Given the description of an element on the screen output the (x, y) to click on. 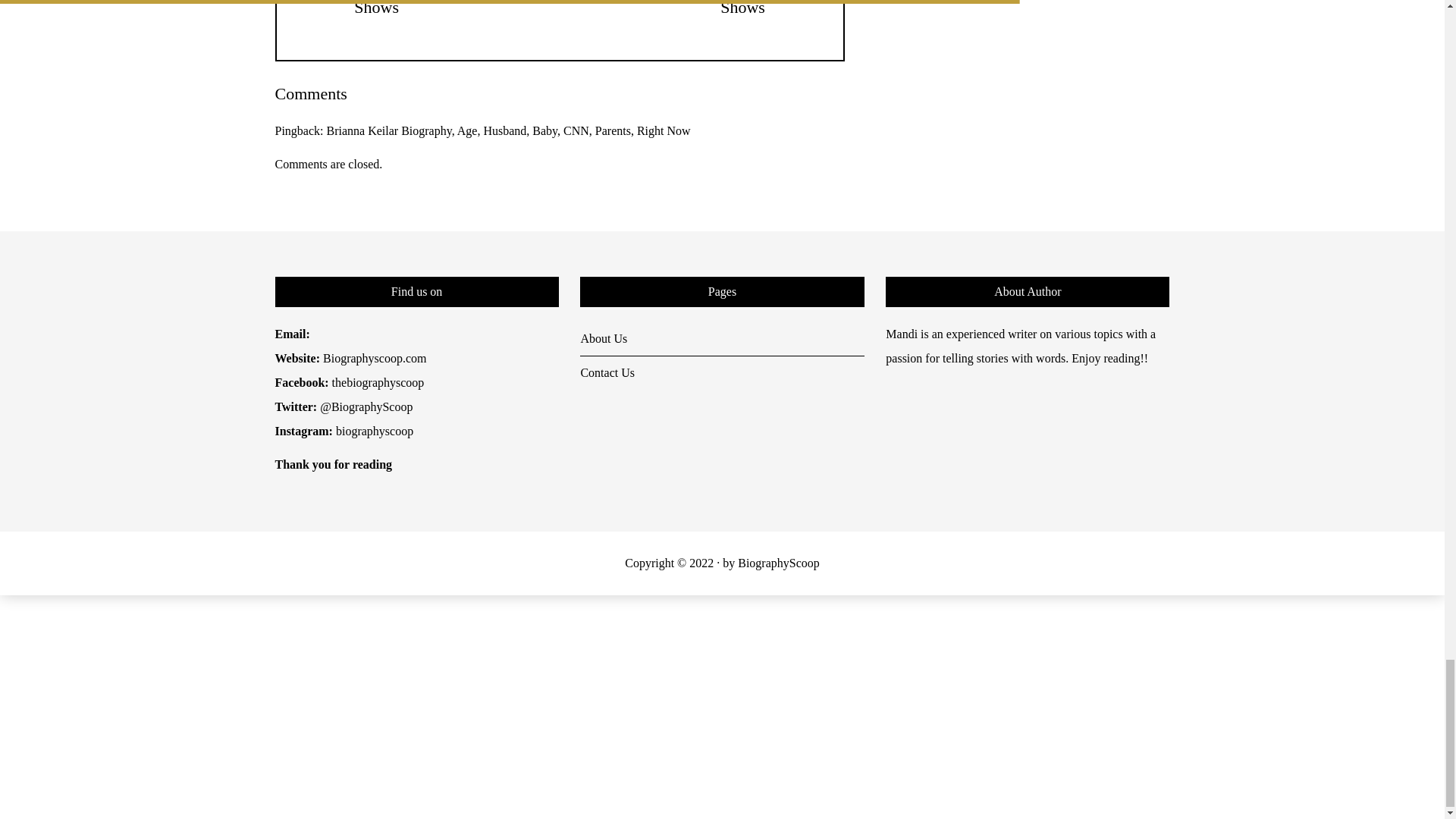
thebiographyscoop (378, 382)
Biographyscoop.com (374, 358)
